Given the description of an element on the screen output the (x, y) to click on. 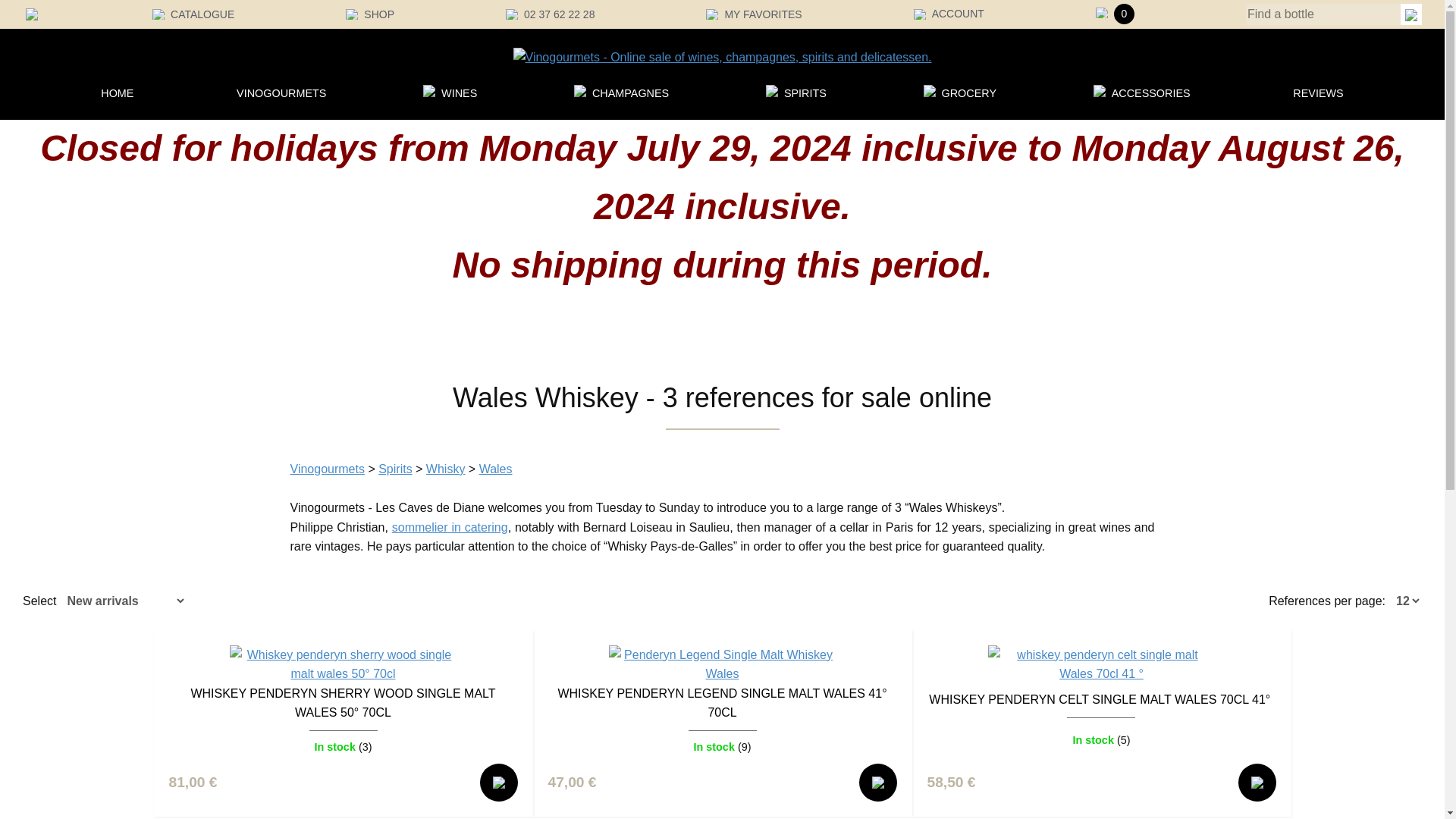
VINOGOURMETS (280, 93)
ACCOUNT (949, 13)
WINES (459, 93)
02 37 62 22 28 (549, 13)
MY FAVORITES (754, 13)
HOME (116, 93)
SHOP (370, 13)
CATALOGUE (193, 13)
